Given the description of an element on the screen output the (x, y) to click on. 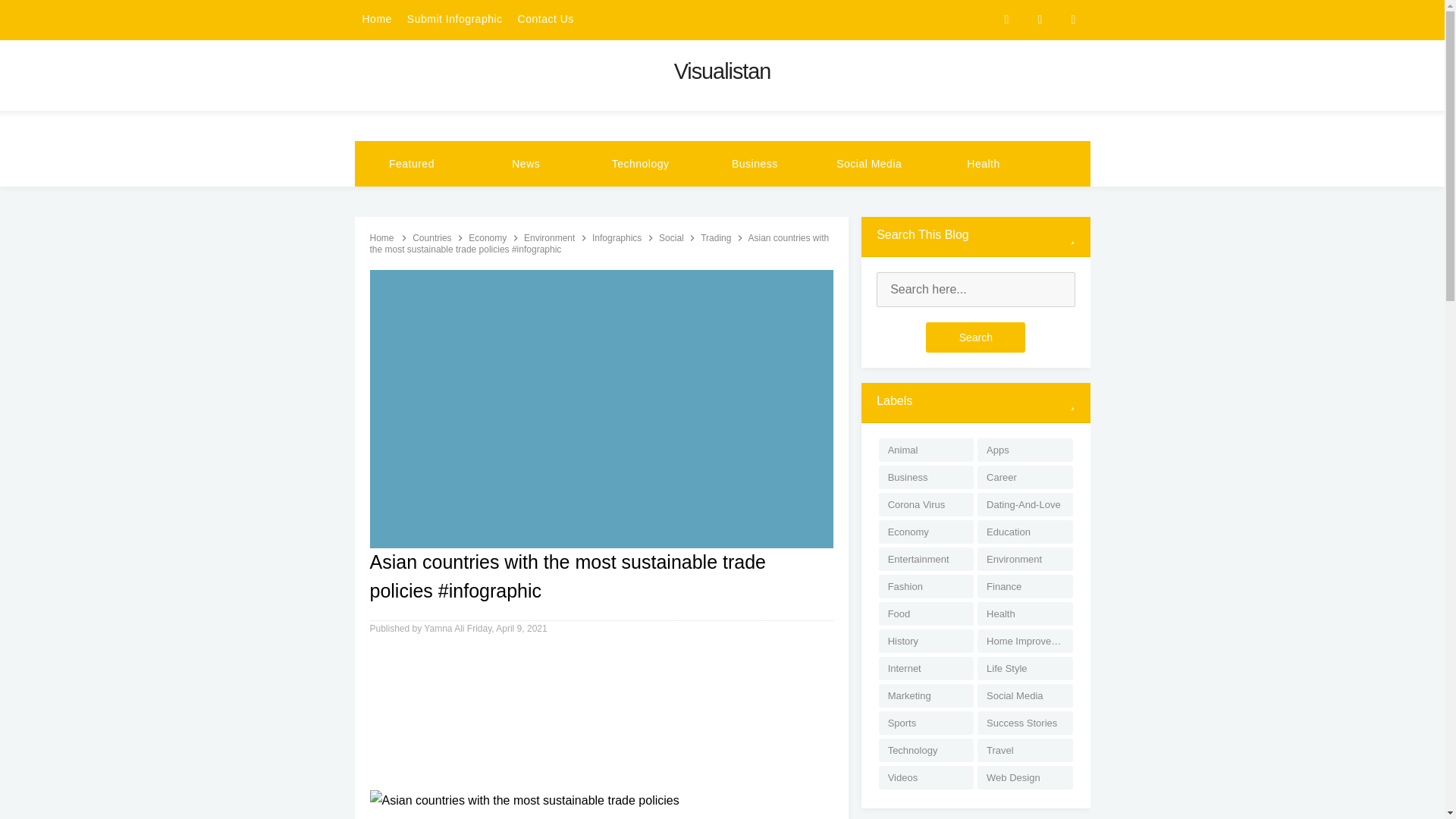
Economy (488, 237)
Home (381, 237)
search (975, 289)
Social (672, 237)
Social (672, 237)
Asian countries with the most sustainable trade policies (524, 800)
Yamna Ali (444, 628)
Countries (433, 237)
Home (381, 237)
Visualistan (722, 70)
Contact Us (545, 20)
Environment (551, 237)
Advertisement (601, 716)
Infographics (618, 237)
Trading (716, 237)
